Given the description of an element on the screen output the (x, y) to click on. 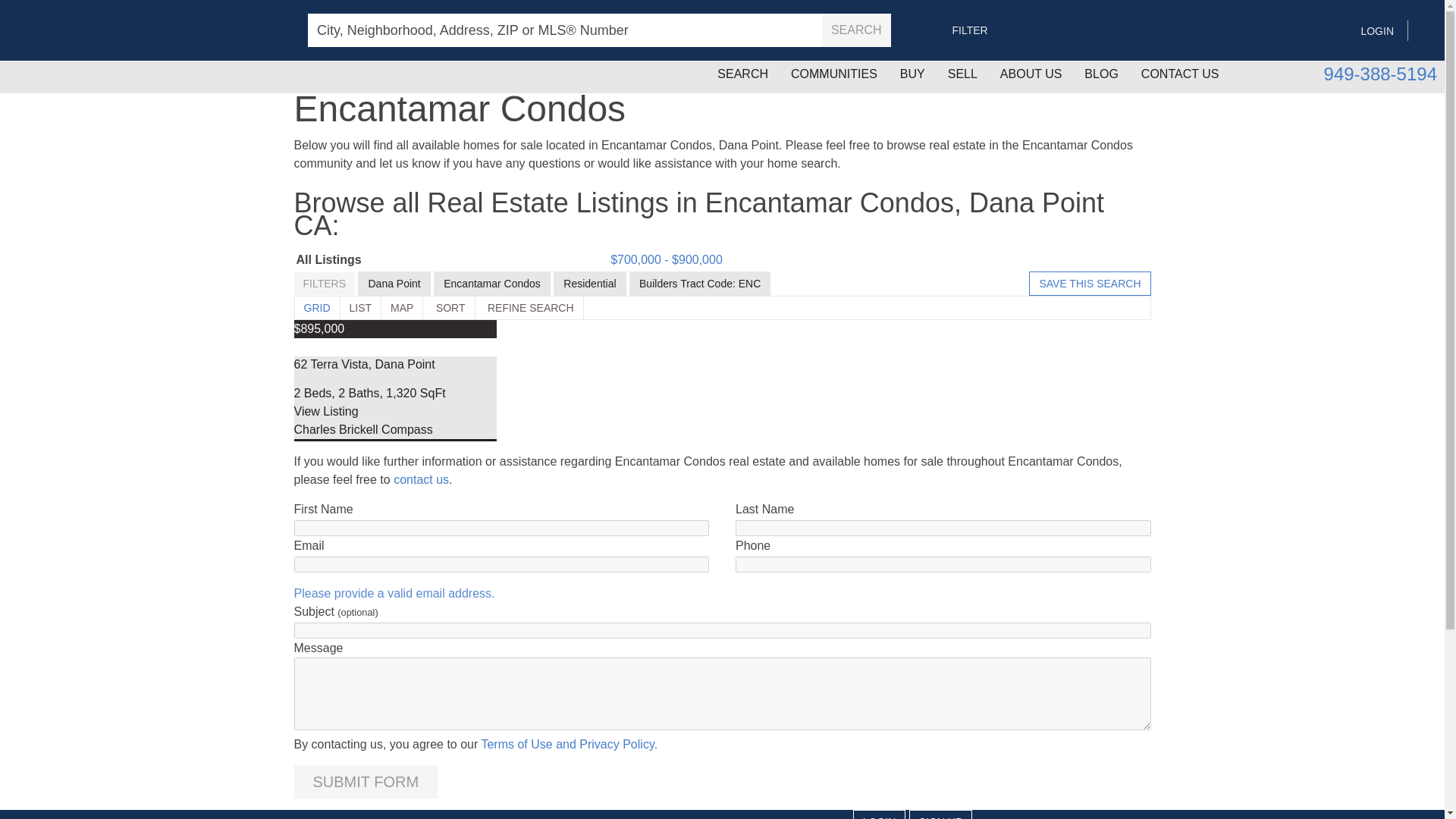
SEARCH (856, 29)
FILTER (969, 29)
LOGIN (1381, 29)
View more information about 62 Terra Vista. (326, 410)
